Given the description of an element on the screen output the (x, y) to click on. 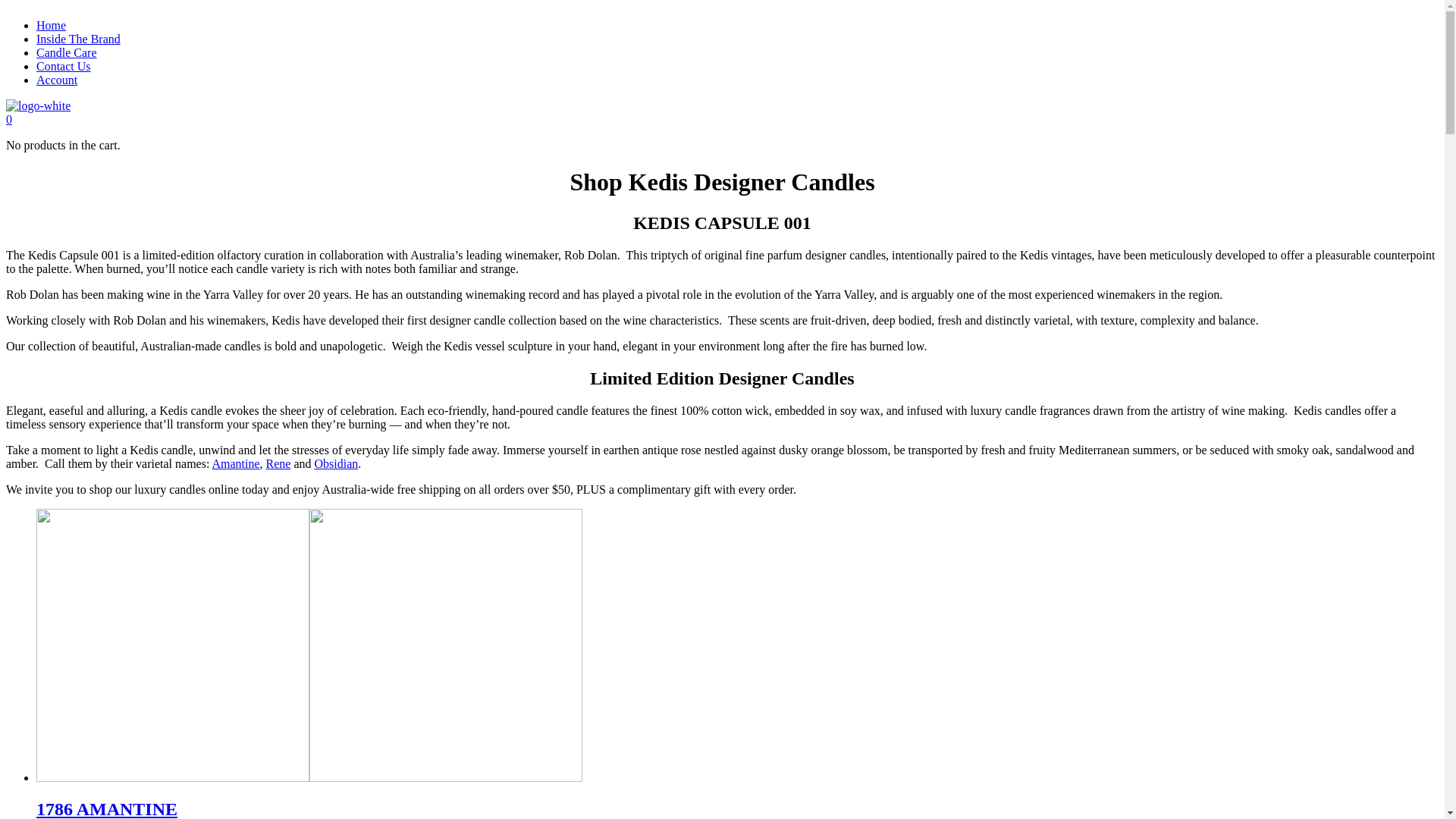
Home Element type: text (50, 24)
Amantine Element type: text (235, 463)
Rene Element type: text (278, 463)
Candle Care Element type: text (66, 52)
Kedis_Amantine_Image3_1000px_DR Element type: hover (445, 644)
Inside The Brand Element type: text (78, 38)
Account Element type: text (56, 79)
0 Element type: text (9, 118)
Obsidian Element type: text (336, 463)
logo-white Element type: hover (38, 105)
Contact Us Element type: text (63, 65)
